Given the description of an element on the screen output the (x, y) to click on. 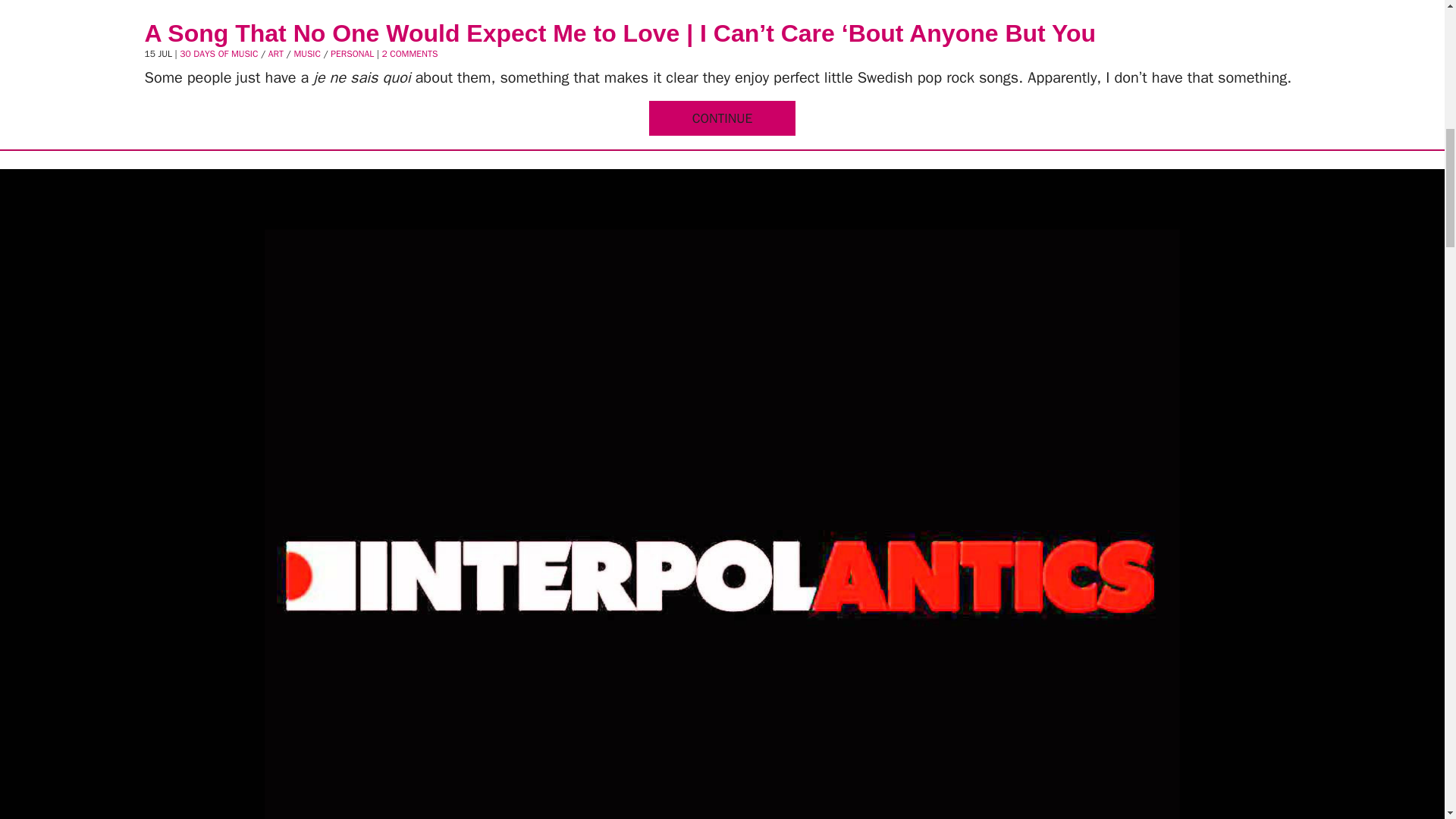
MUSIC (307, 53)
ART (275, 53)
CONTINUE (722, 117)
2 COMMENTS (409, 53)
PERSONAL (352, 53)
30 DAYS OF MUSIC (218, 53)
